Given the description of an element on the screen output the (x, y) to click on. 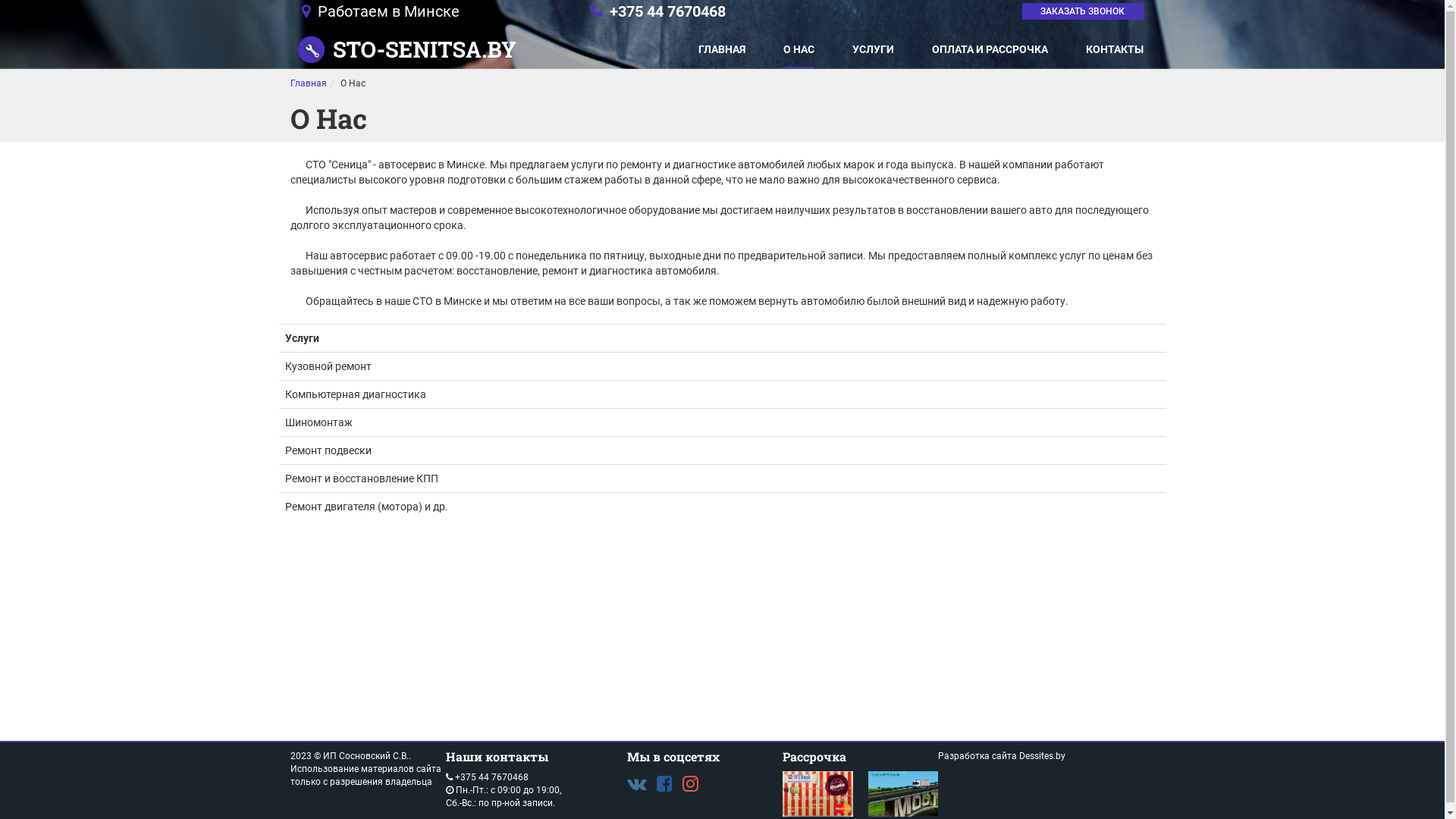
+375 44 7670468 Element type: text (667, 11)
+375 44 7670468 Element type: text (491, 776)
Dessites.by Element type: text (1042, 755)
